Given the description of an element on the screen output the (x, y) to click on. 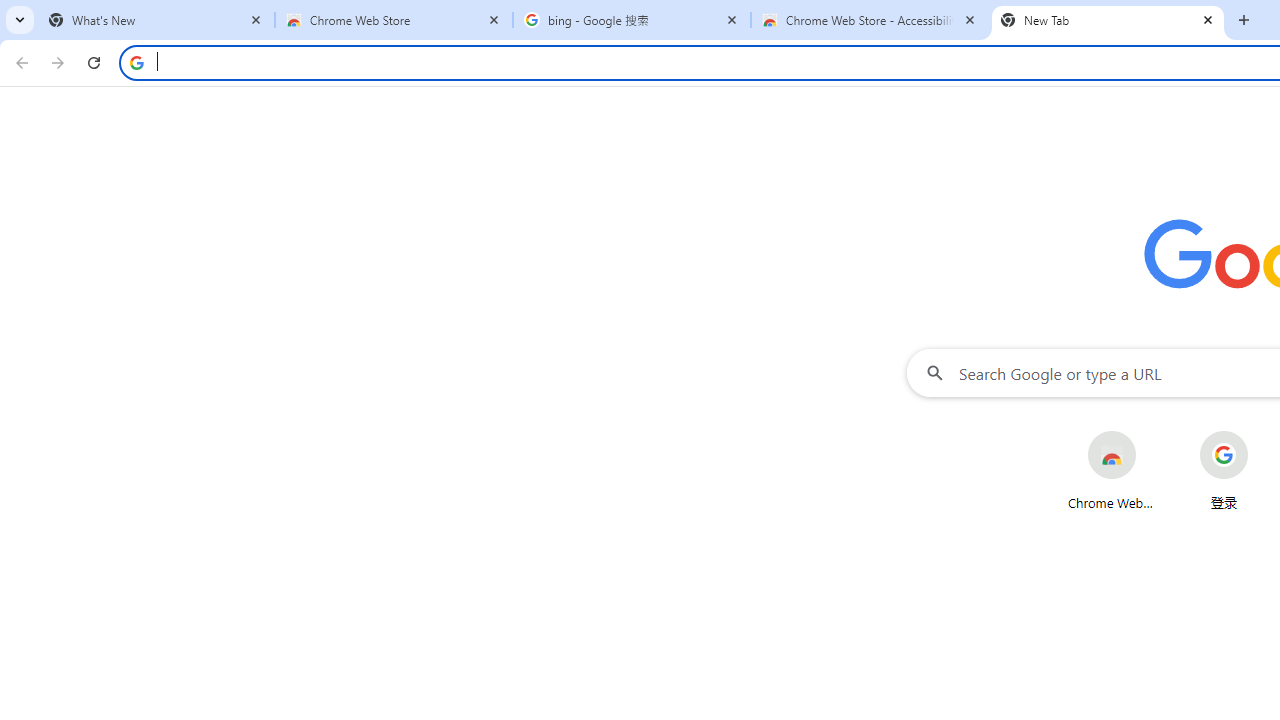
Chrome Web Store (394, 20)
Chrome Web Store (1111, 470)
What's New (156, 20)
Chrome Web Store - Accessibility (870, 20)
Search icon (136, 62)
